Given the description of an element on the screen output the (x, y) to click on. 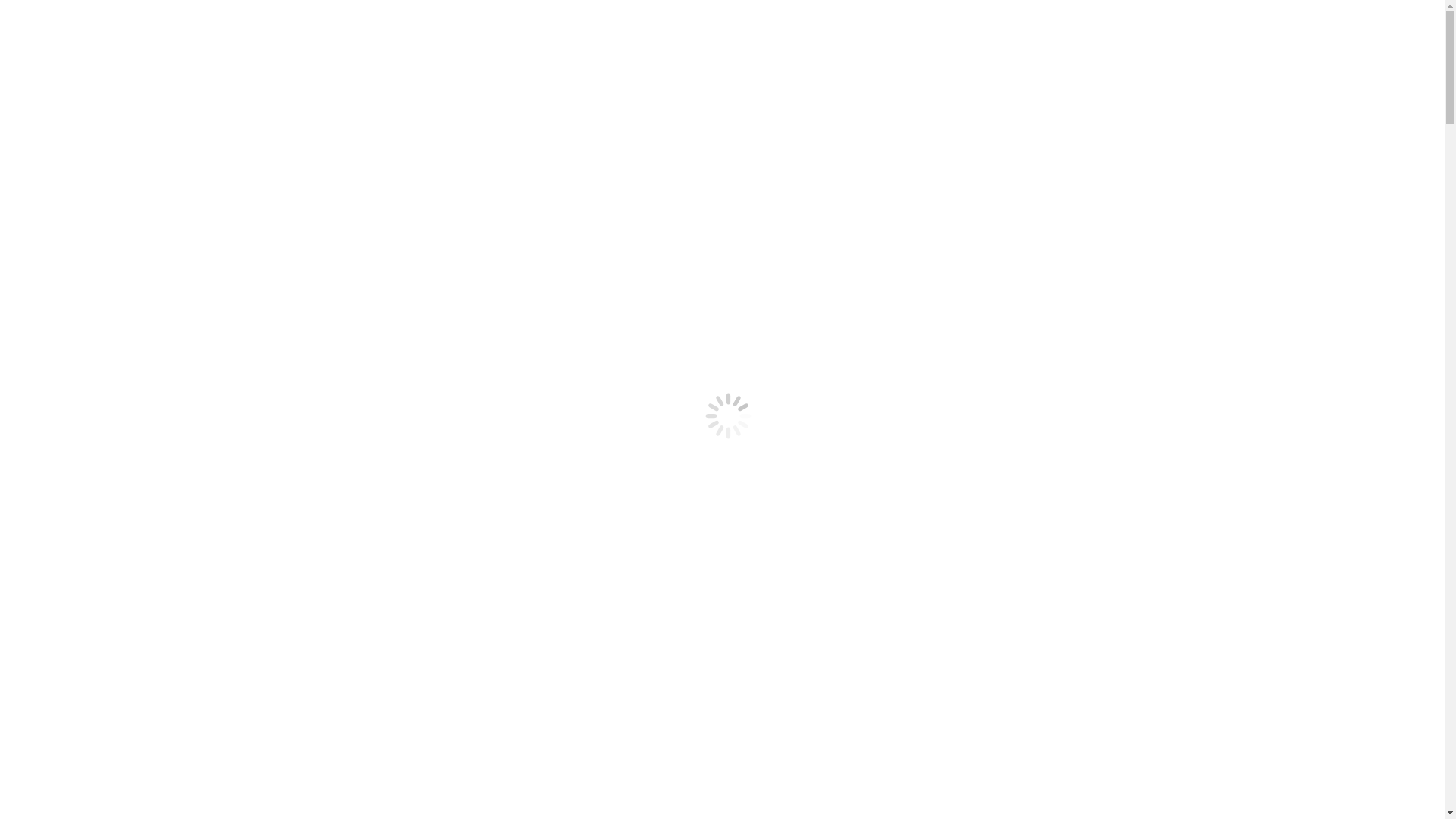
Cyberscan Element type: text (92, 154)
Meditation Element type: text (92, 291)
Shadow Yoga and Nrtta Sadhana Element type: text (145, 589)
Retreat and Meditation Classes Element type: text (142, 562)
Facebook Element type: text (29, 412)
About Me Element type: text (60, 127)
Reclaim Your Power Element type: text (116, 250)
Contact Us Element type: text (63, 753)
Lectures Element type: text (87, 332)
Linkedin Element type: text (123, 412)
Shadow Yoga Courses Element type: text (120, 712)
Solstice and Equinox Rituals Element type: text (136, 671)
0407 332 212 Element type: text (722, 445)
Lectures Element type: text (87, 699)
Self-Development Packages Element type: text (134, 576)
Instagram Element type: text (77, 412)
Healing Element type: text (85, 535)
Home Element type: text (50, 480)
Events Element type: text (52, 236)
Home Element type: text (50, 113)
Shadow Yoga and Nrtta Sadhana Element type: text (145, 222)
Healing Element type: text (85, 168)
Meditation Element type: text (92, 658)
About Me Element type: text (60, 494)
INTUITIVE HEALING Element type: text (125, 644)
INTUITIVE HEALING Element type: text (125, 277)
Testimonials Element type: text (67, 373)
Reclaim Your Power Element type: text (116, 617)
Solstice and Equinox Rituals Element type: text (136, 304)
Skip to content Element type: text (42, 12)
Self-Development Packages Element type: text (134, 209)
Retreat and Meditation Classes Element type: text (142, 195)
The Purpose Element type: text (66, 508)
Contact Us Element type: text (63, 386)
Cyberscan Element type: text (92, 521)
The Purpose Element type: text (66, 140)
Events Element type: text (52, 603)
Shadow Yoga Courses Element type: text (120, 345)
Yoga & Self Development Retreat           Element type: text (164, 630)
Yoga & Self Development Retreat           Element type: text (164, 263)
Testimonials Element type: text (67, 740)
